Given the description of an element on the screen output the (x, y) to click on. 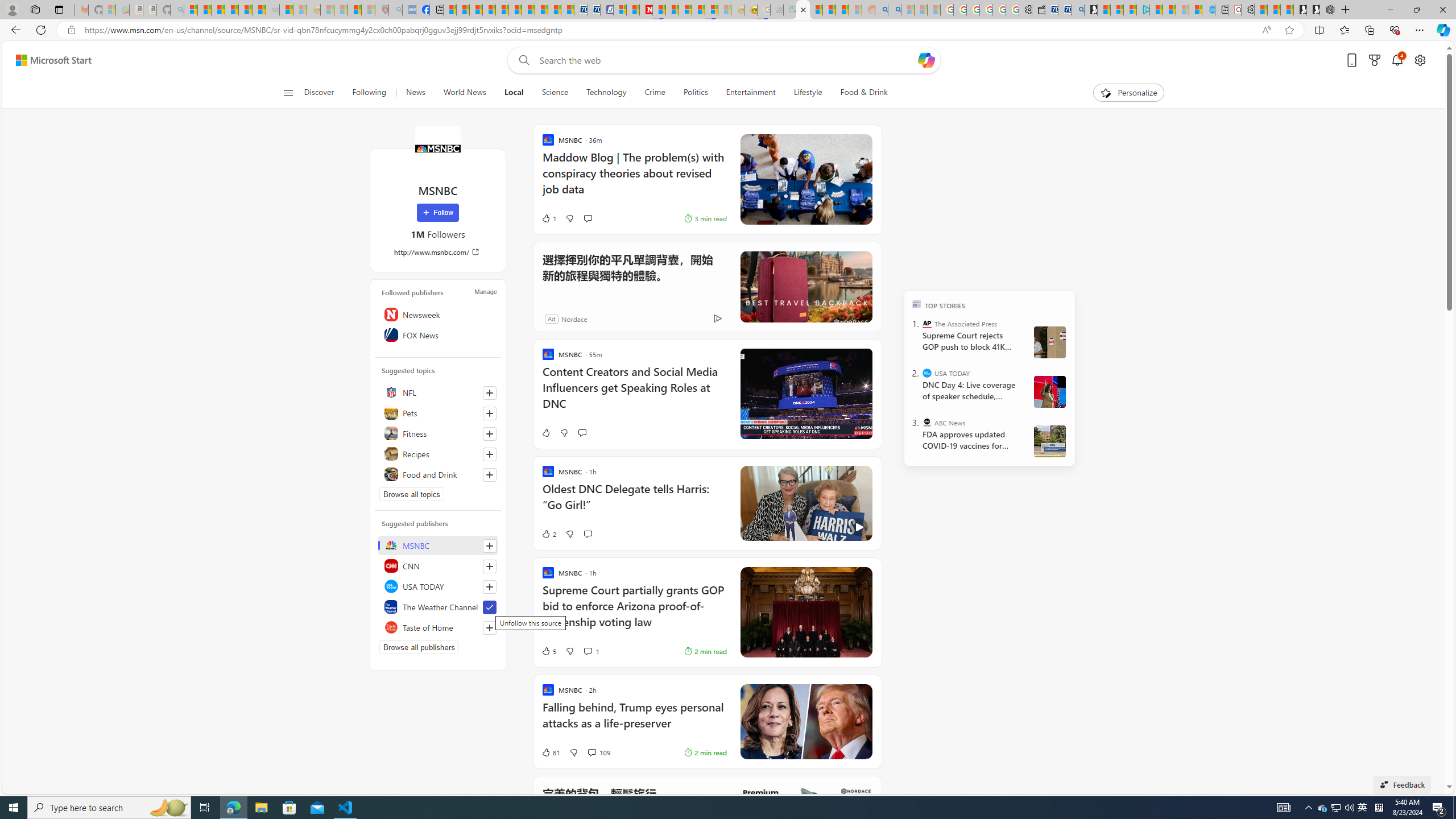
Taste of Home (437, 627)
Latest Politics News & Archive | Newsweek.com (646, 9)
2 Like (547, 533)
Unfollow this source (489, 607)
Student Loan Update: Forgiveness Program Ends This Month (842, 9)
